Given the description of an element on the screen output the (x, y) to click on. 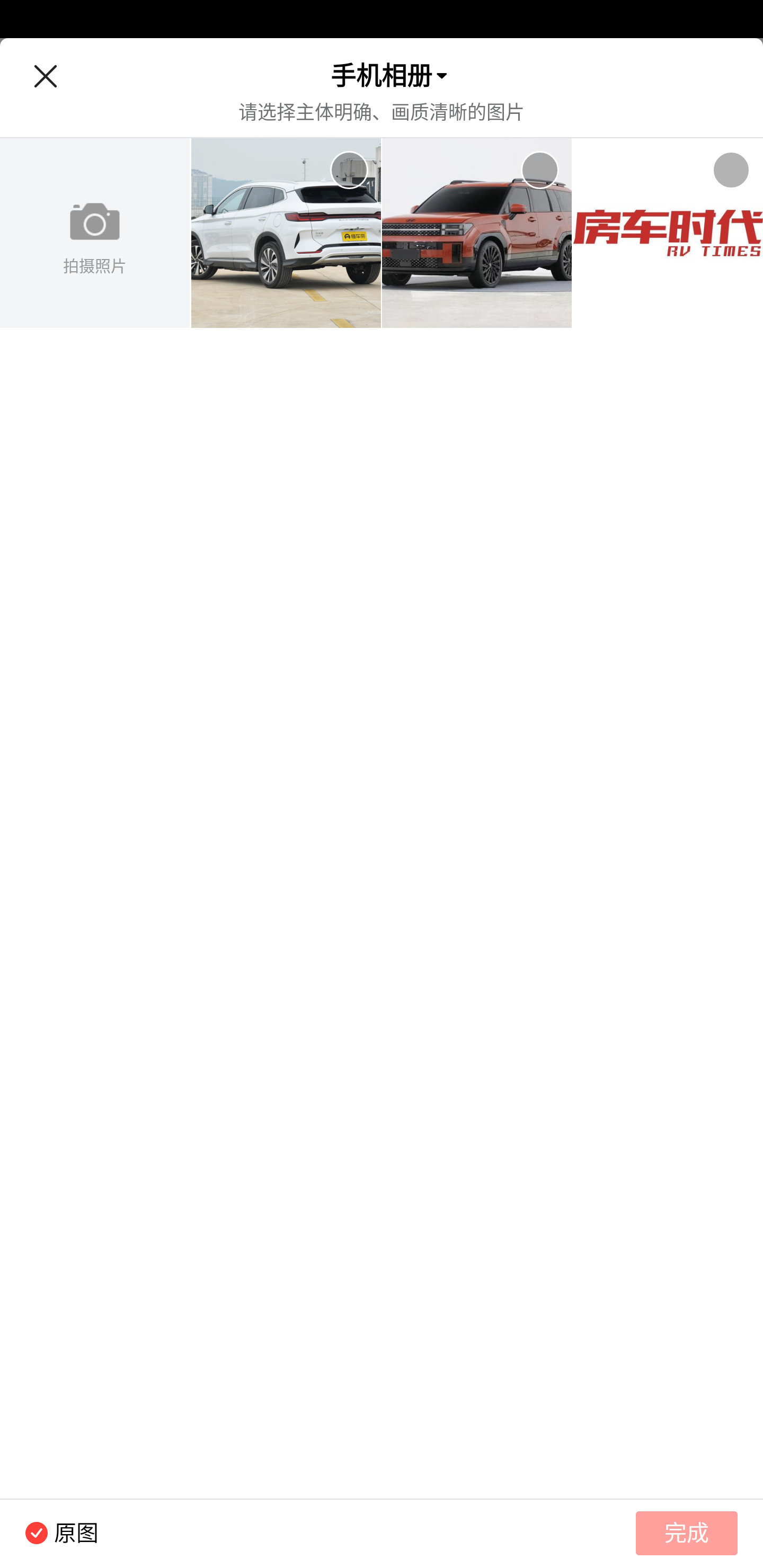
返回 (44, 75)
手机相册 (381, 75)
拍摄照片 (94, 232)
图片1 (285, 232)
未选中 (348, 169)
图片2 (476, 232)
未选中 (539, 169)
图片3 (668, 232)
未选中 (731, 169)
已选中，原图， 原图 完成 完成 (381, 1533)
已选中，原图， 原图 (49, 1533)
